Given the description of an element on the screen output the (x, y) to click on. 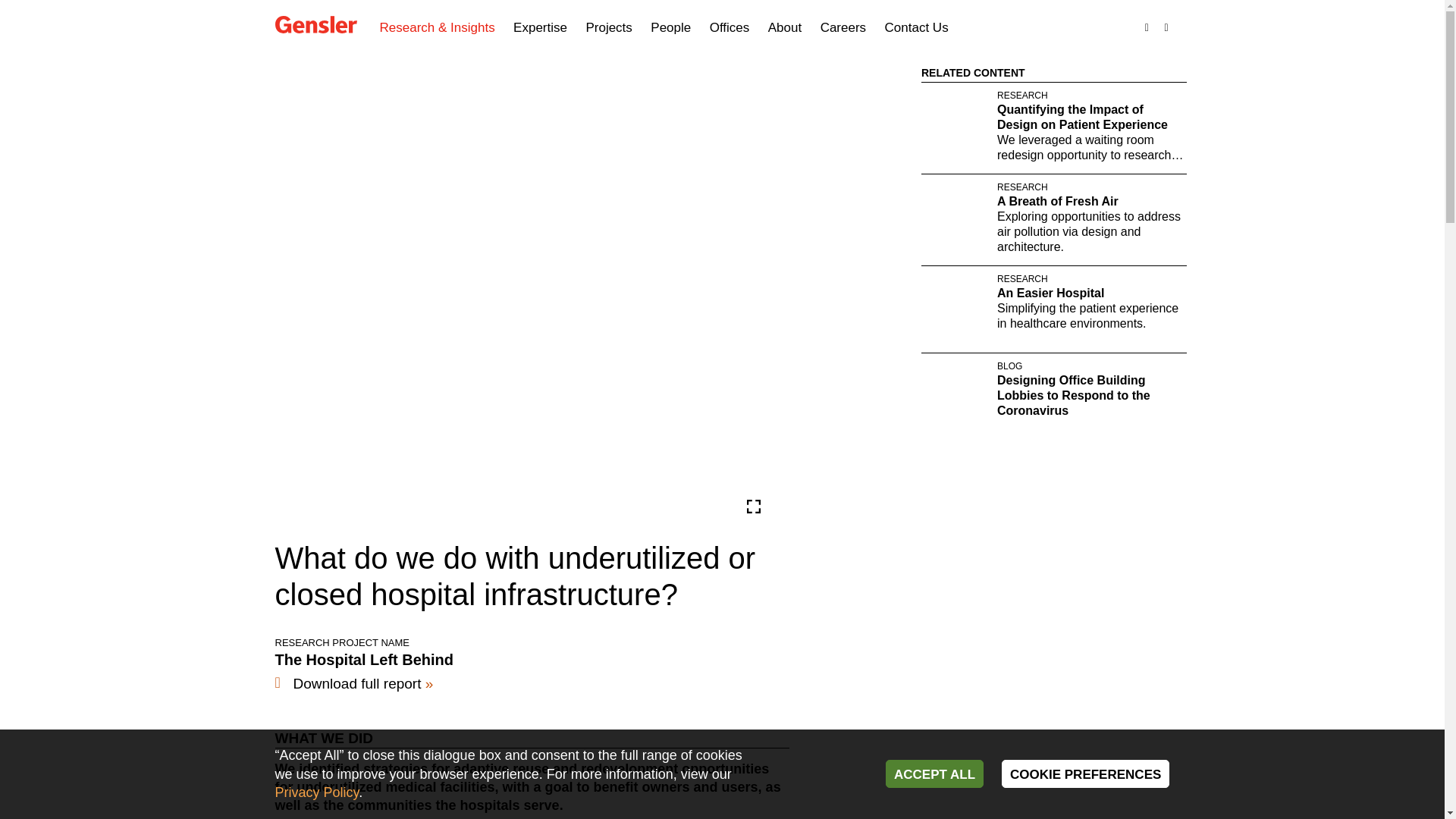
Gensler (315, 25)
Expertise (540, 28)
Gensler (315, 24)
